Given the description of an element on the screen output the (x, y) to click on. 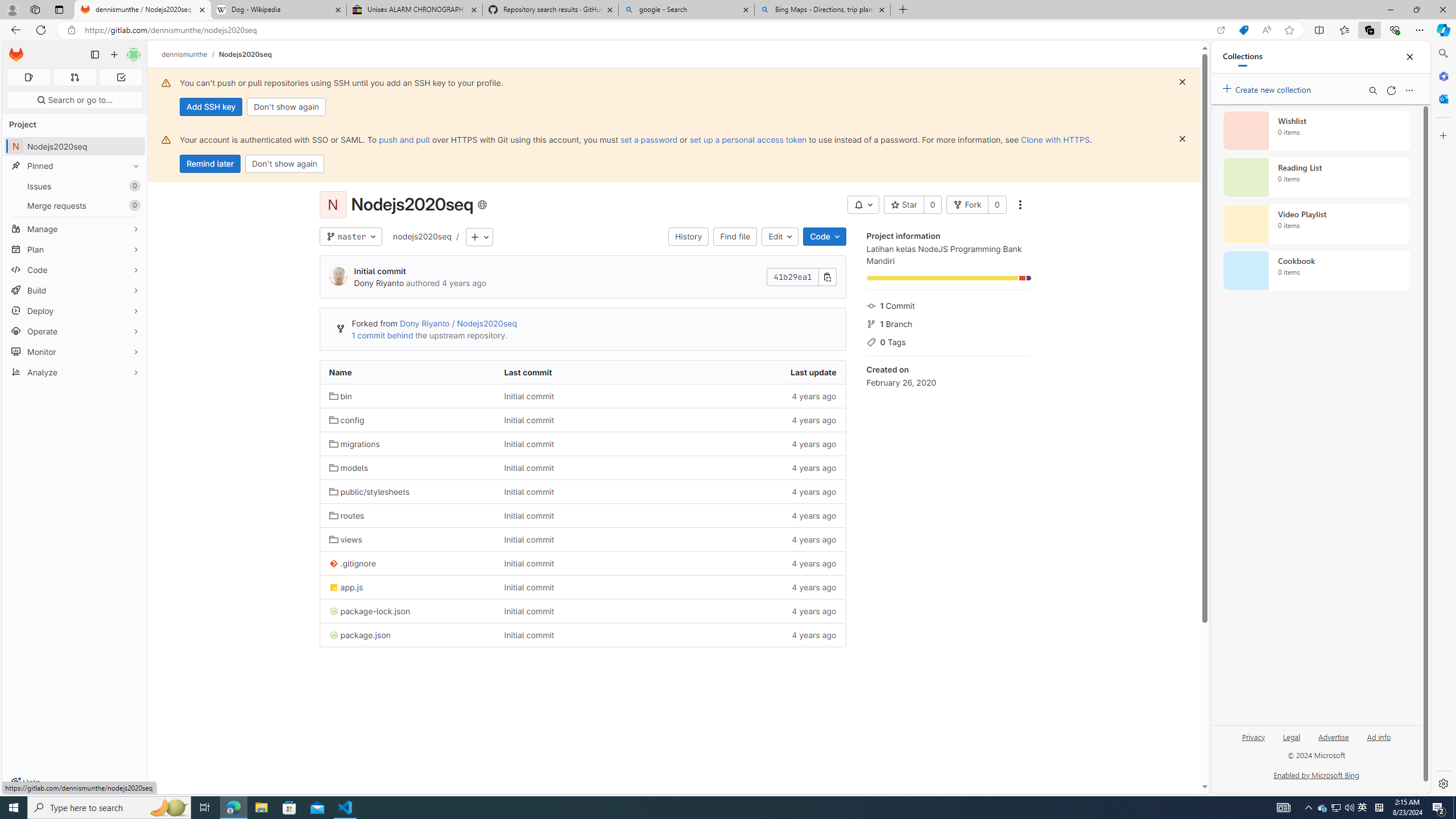
Deploy (74, 310)
Code (74, 269)
migrations (354, 444)
Copy commit SHA (827, 276)
config (346, 420)
Remind later (210, 163)
1 Commit (948, 304)
1 commit behind (381, 335)
Create new... (113, 54)
views (345, 539)
dennismunthe (184, 53)
